Given the description of an element on the screen output the (x, y) to click on. 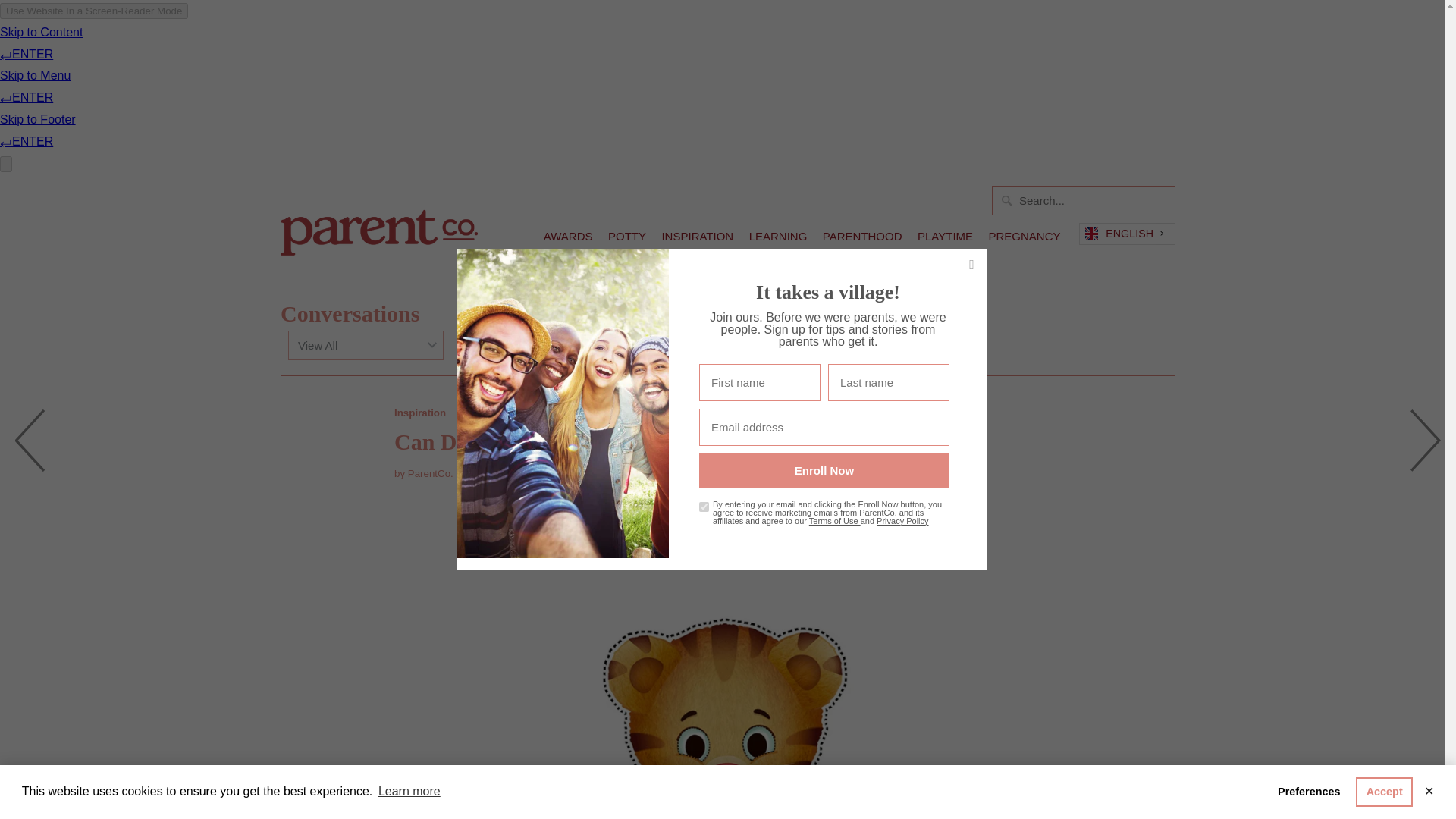
Preferences (1309, 791)
ENGLISH (1127, 233)
INSPIRATION (697, 240)
Enroll Now (823, 470)
LEARNING (778, 240)
PLAYTIME (944, 240)
PARENTHOOD (862, 240)
Conversations (350, 313)
ParentCo. (379, 226)
AWARDS (567, 240)
PREGNANCY (1024, 240)
Conversations tagged Inspiration (419, 412)
Learn more (408, 791)
Inspiration (419, 412)
Conversations (350, 313)
